Given the description of an element on the screen output the (x, y) to click on. 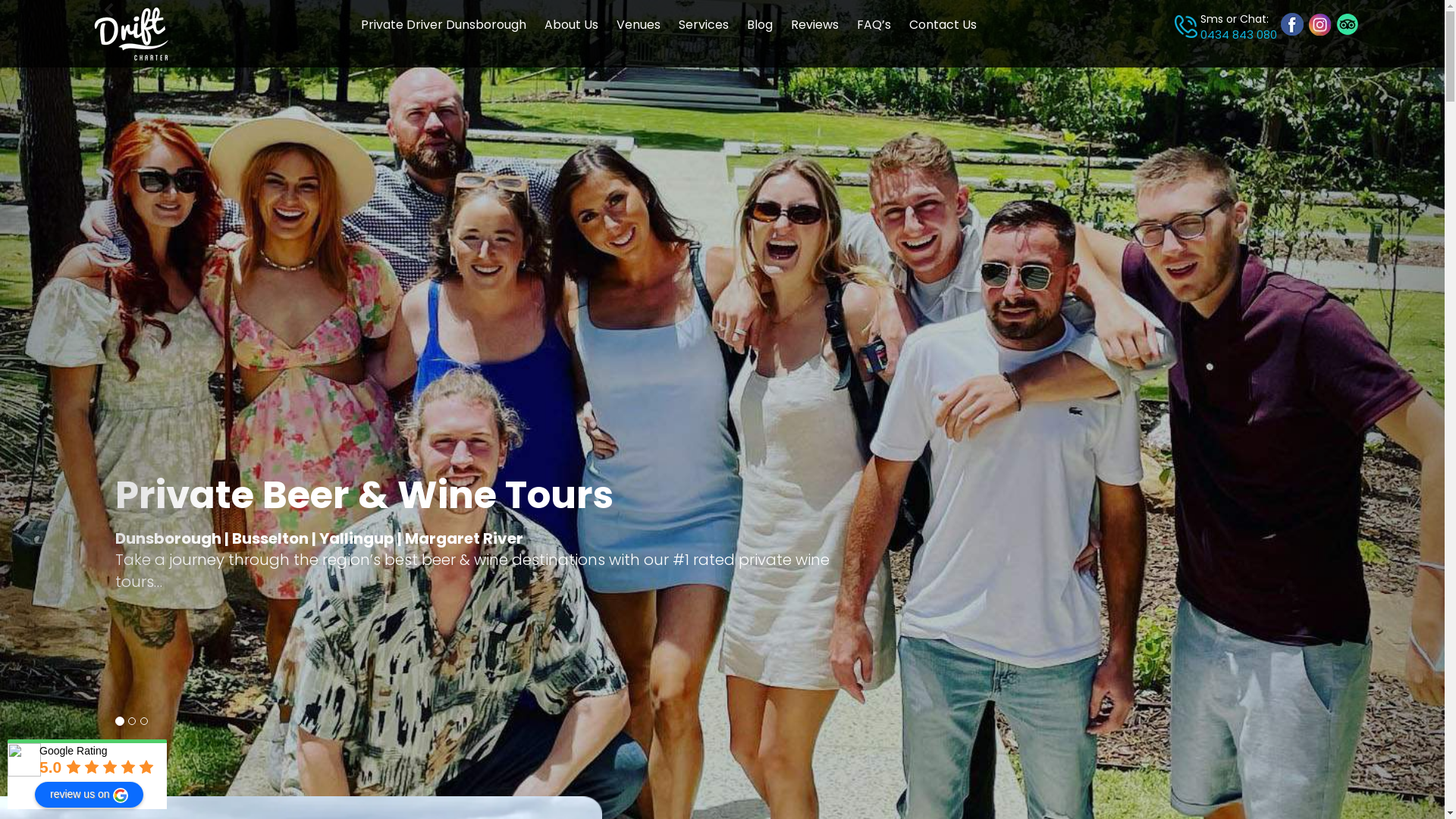
driftcharter logo Element type: hover (131, 33)
Venues Element type: text (638, 25)
review us on Element type: text (88, 794)
Blog Element type: text (759, 25)
facebook icon Element type: hover (1292, 24)
instagram icon Element type: hover (1319, 24)
0434 843 080 Element type: text (1238, 34)
About Us Element type: text (570, 25)
Google Rating
5.0
review us on Element type: text (86, 760)
Services Element type: text (703, 25)
Reviews Element type: text (814, 25)
tripadvisor icon Element type: hover (1347, 23)
Contact Us Element type: text (942, 25)
Private Driver Dunsborough Element type: text (443, 25)
